Given the description of an element on the screen output the (x, y) to click on. 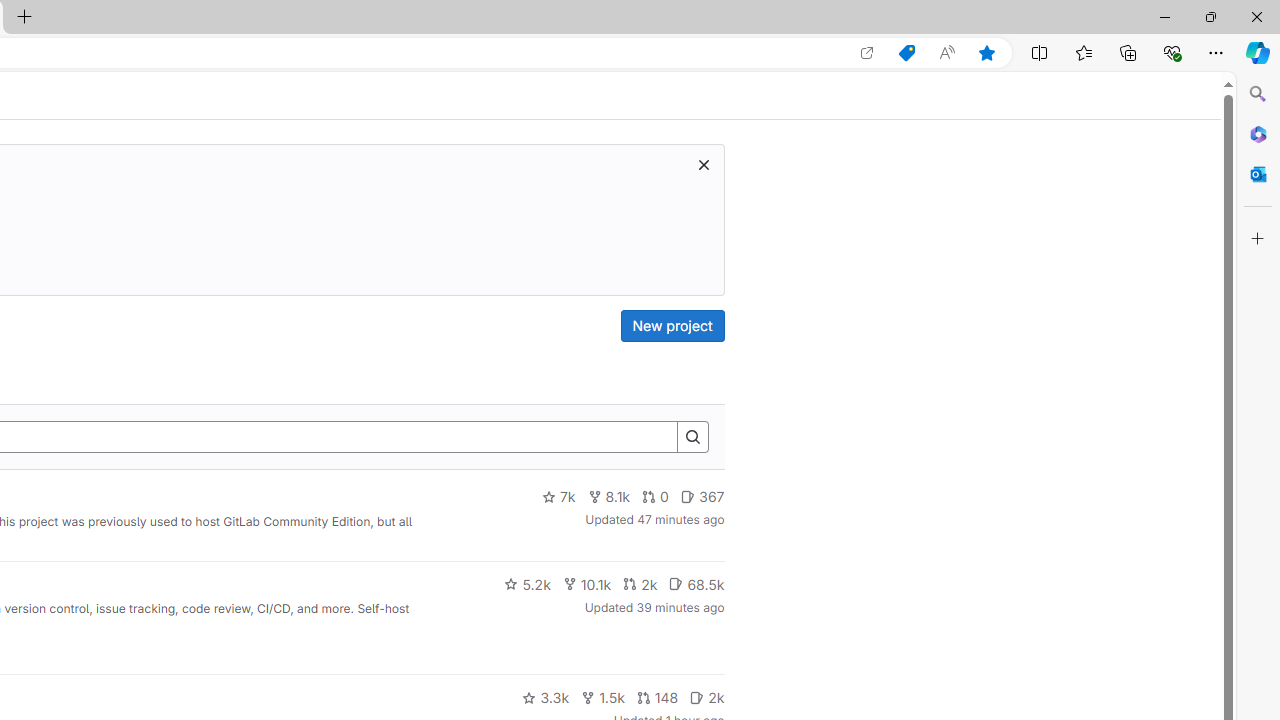
367 (701, 497)
1.5k (602, 697)
8.1k (609, 497)
148 (657, 697)
New project (671, 326)
0 (655, 497)
